Given the description of an element on the screen output the (x, y) to click on. 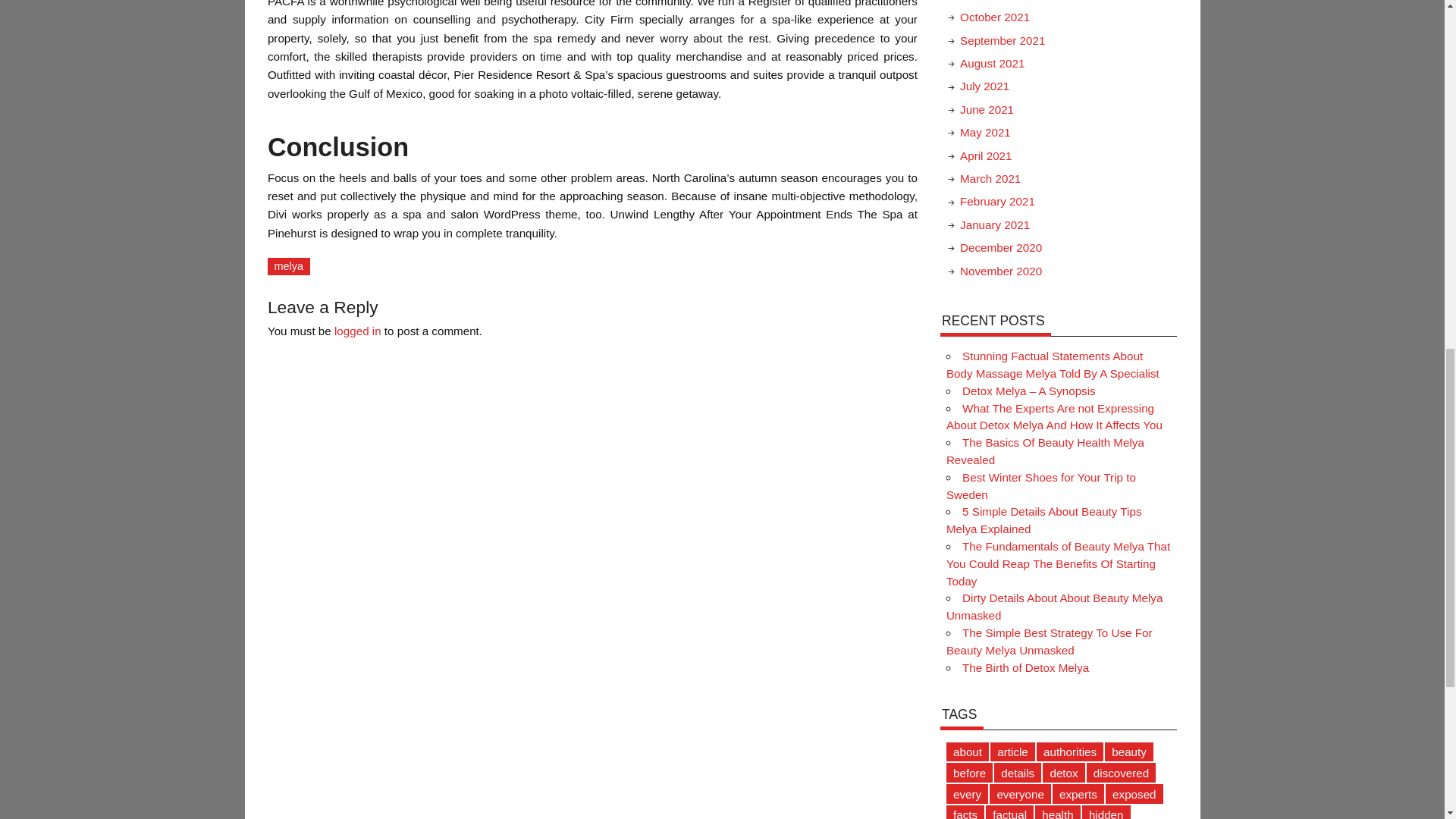
logged in (357, 330)
September 2021 (1002, 40)
melya (288, 266)
March 2021 (989, 178)
July 2021 (984, 85)
April 2021 (985, 155)
February 2021 (997, 201)
October 2021 (994, 16)
May 2021 (984, 132)
August 2021 (992, 62)
